Given the description of an element on the screen output the (x, y) to click on. 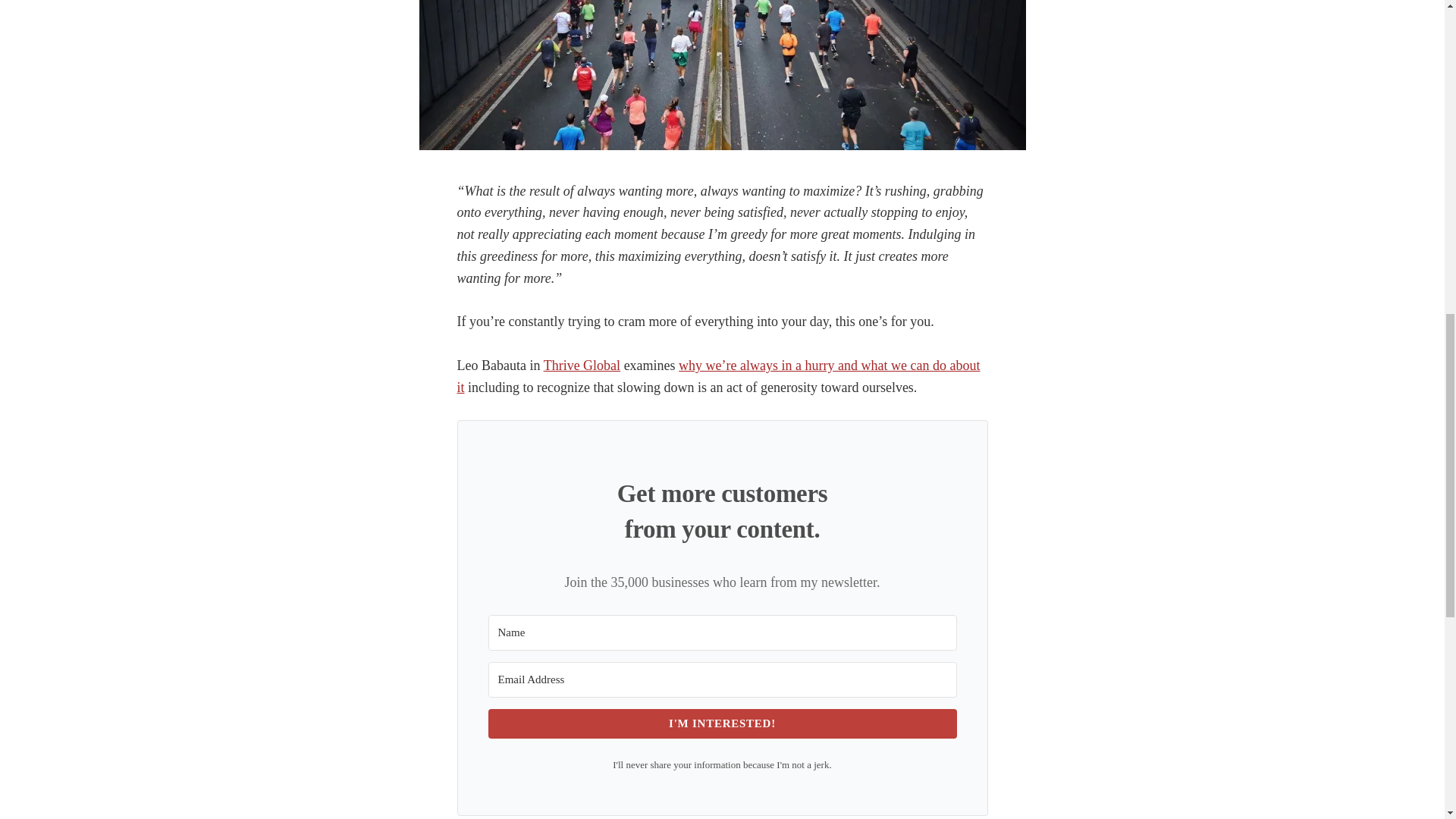
I'M INTERESTED! (721, 723)
Thrive Global (581, 365)
